Given the description of an element on the screen output the (x, y) to click on. 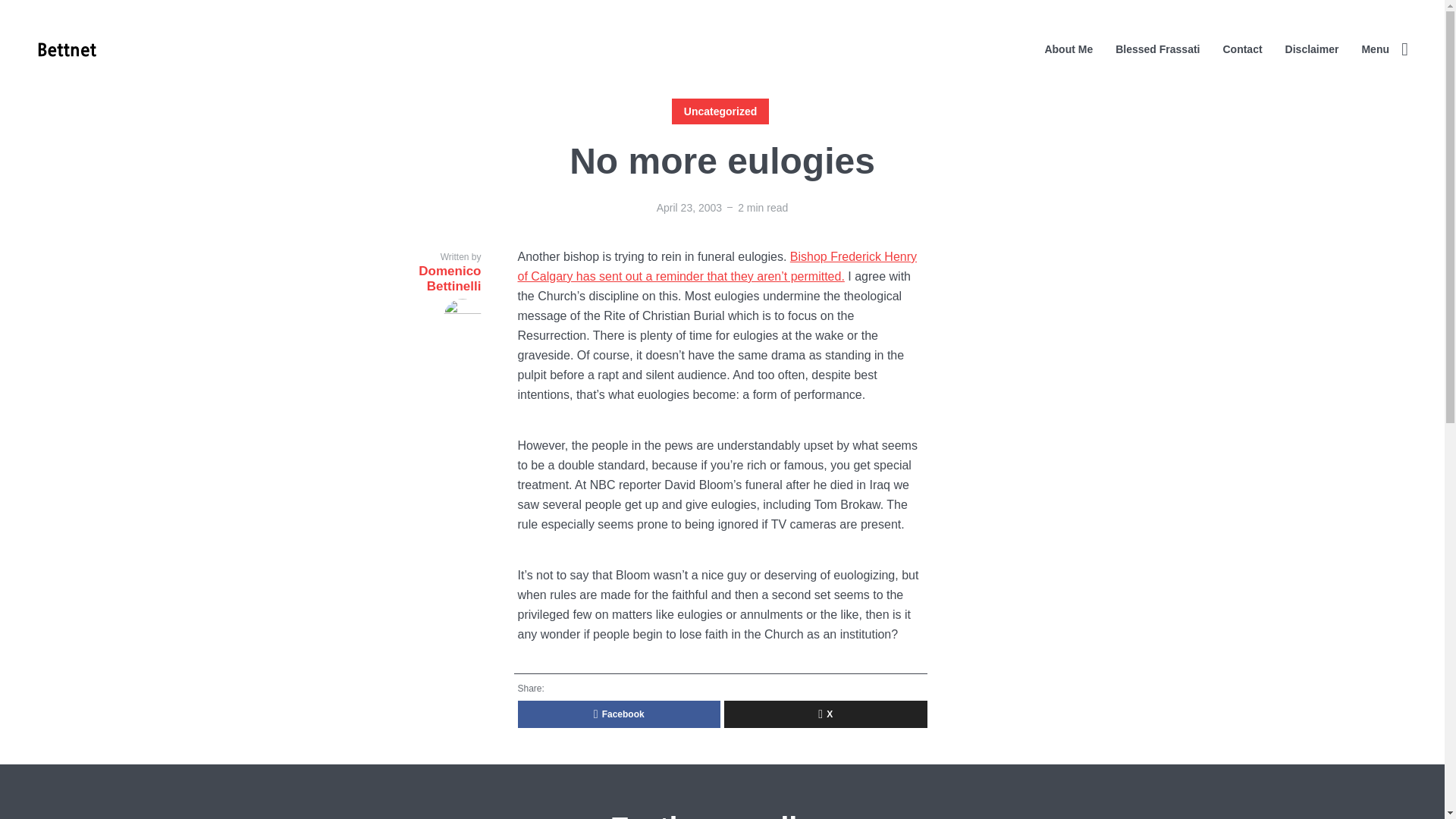
Blessed Frassati (1157, 48)
Facebook (618, 714)
About Me (1068, 48)
X (825, 714)
Menu (1384, 48)
Contact (1242, 48)
Domenico Bettinelli (424, 299)
Uncategorized (719, 111)
Disclaimer (1312, 48)
